Given the description of an element on the screen output the (x, y) to click on. 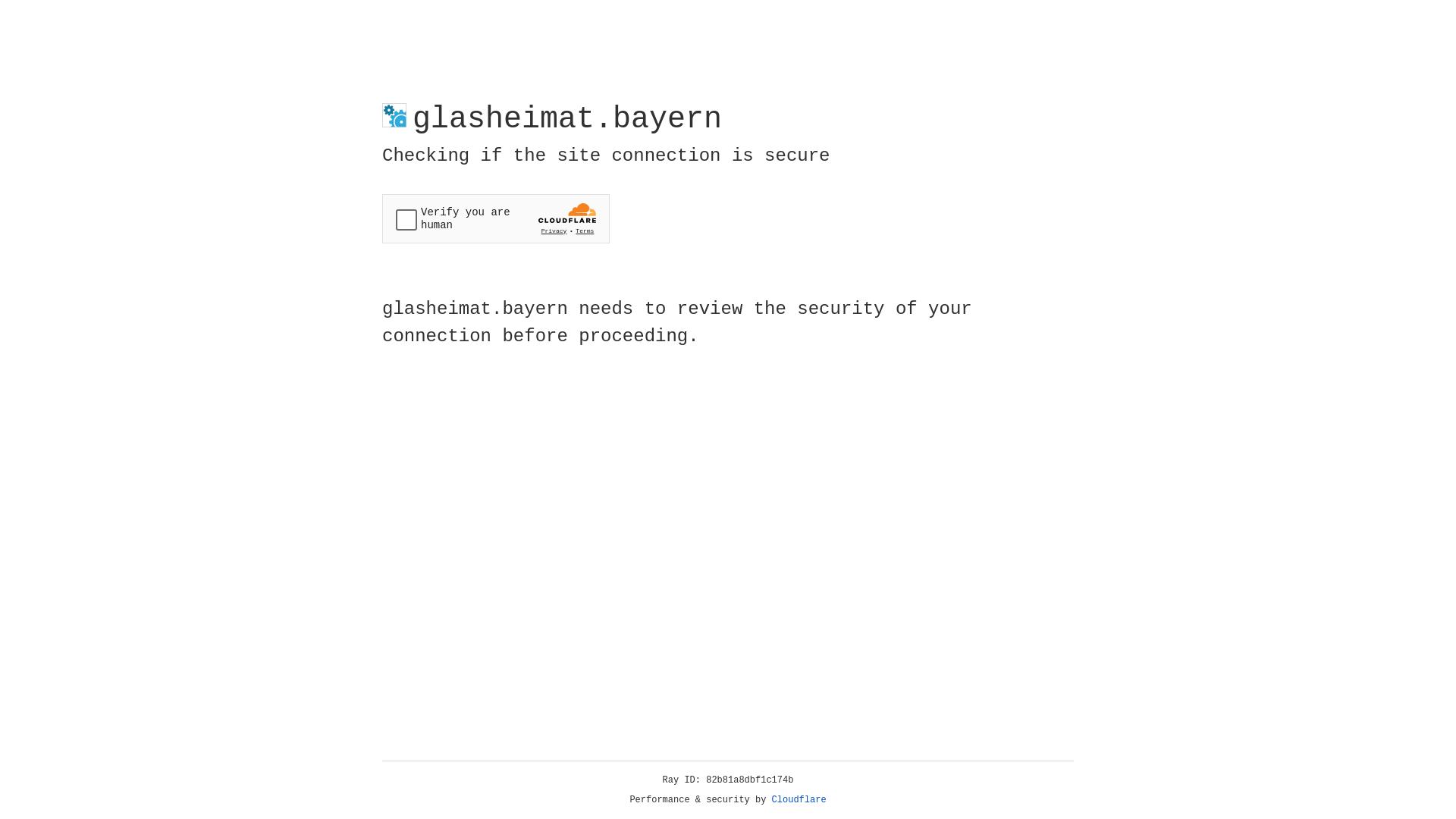
Widget containing a Cloudflare security challenge Element type: hover (495, 218)
Cloudflare Element type: text (798, 799)
